Given the description of an element on the screen output the (x, y) to click on. 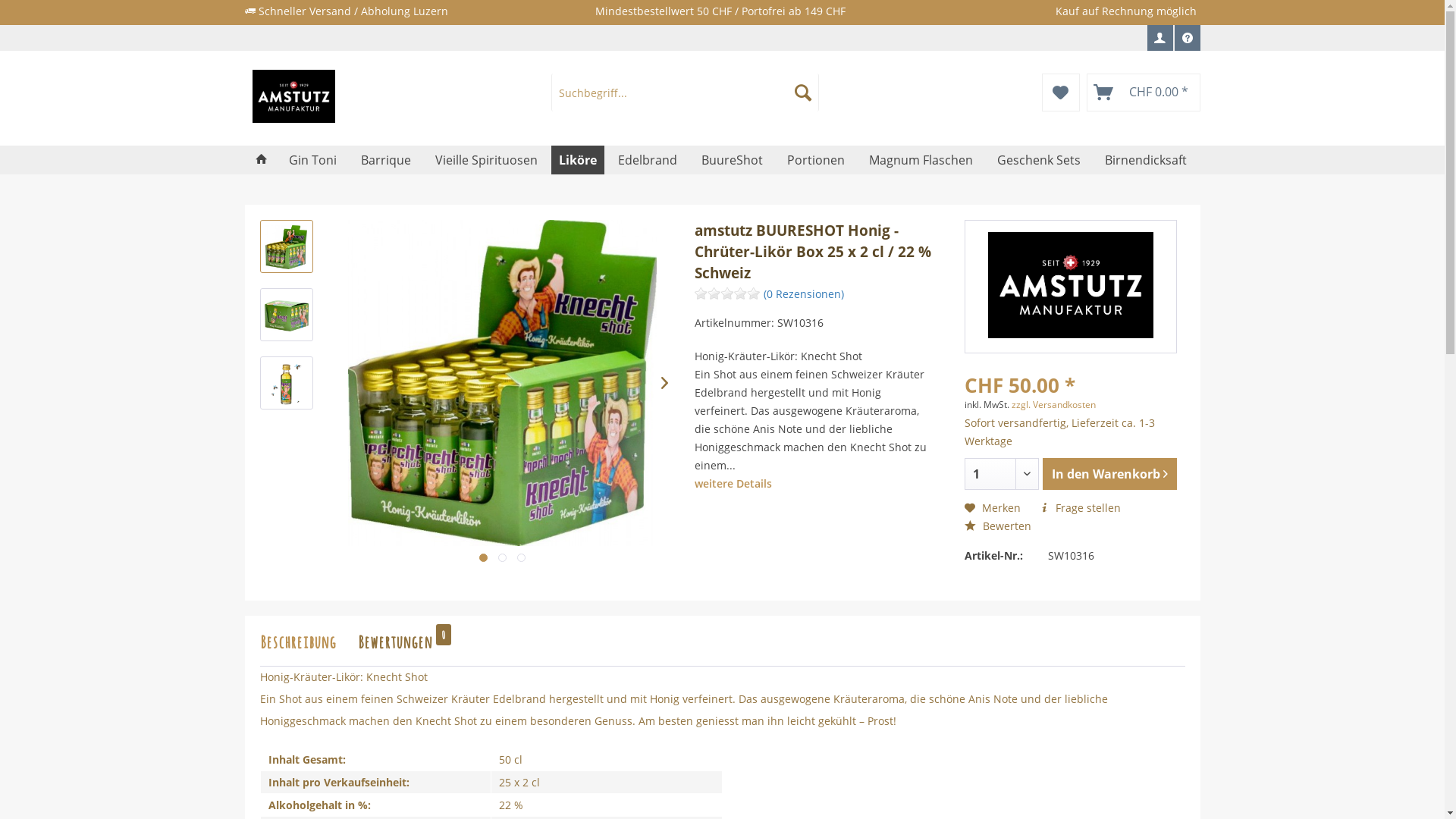
Barrique Element type: text (385, 159)
Home Element type: hover (260, 159)
Mein Konto Element type: hover (1158, 37)
(0 Rezensionen) Element type: text (803, 294)
Merkzettel Element type: hover (1060, 92)
In den Warenkorb Element type: text (1109, 473)
Merken Element type: text (992, 507)
Weitere Artikel von amstutz Element type: hover (1071, 285)
Bewerten Element type: text (997, 525)
Beschreibung Element type: text (304, 640)
CHF 0.00 * Element type: text (1142, 92)
Frage stellen Element type: text (1079, 507)
  Element type: text (521, 557)
Geschenk Sets Element type: text (1037, 159)
  Element type: text (483, 557)
Vieille Spirituosen Element type: text (486, 159)
zzgl. Versandkosten Element type: text (1053, 404)
weitere Details Element type: text (732, 483)
  Element type: text (501, 557)
BuureShot Element type: text (731, 159)
Edelbrand Element type: text (646, 159)
Gin Toni Element type: text (311, 159)
Bewertungen
0 Element type: text (402, 640)
Magnum Flaschen Element type: text (920, 159)
Amstutz-Shop - zur Startseite wechseln Element type: hover (365, 95)
Portionen Element type: text (815, 159)
Birnendicksaft Element type: text (1144, 159)
